Given the description of an element on the screen output the (x, y) to click on. 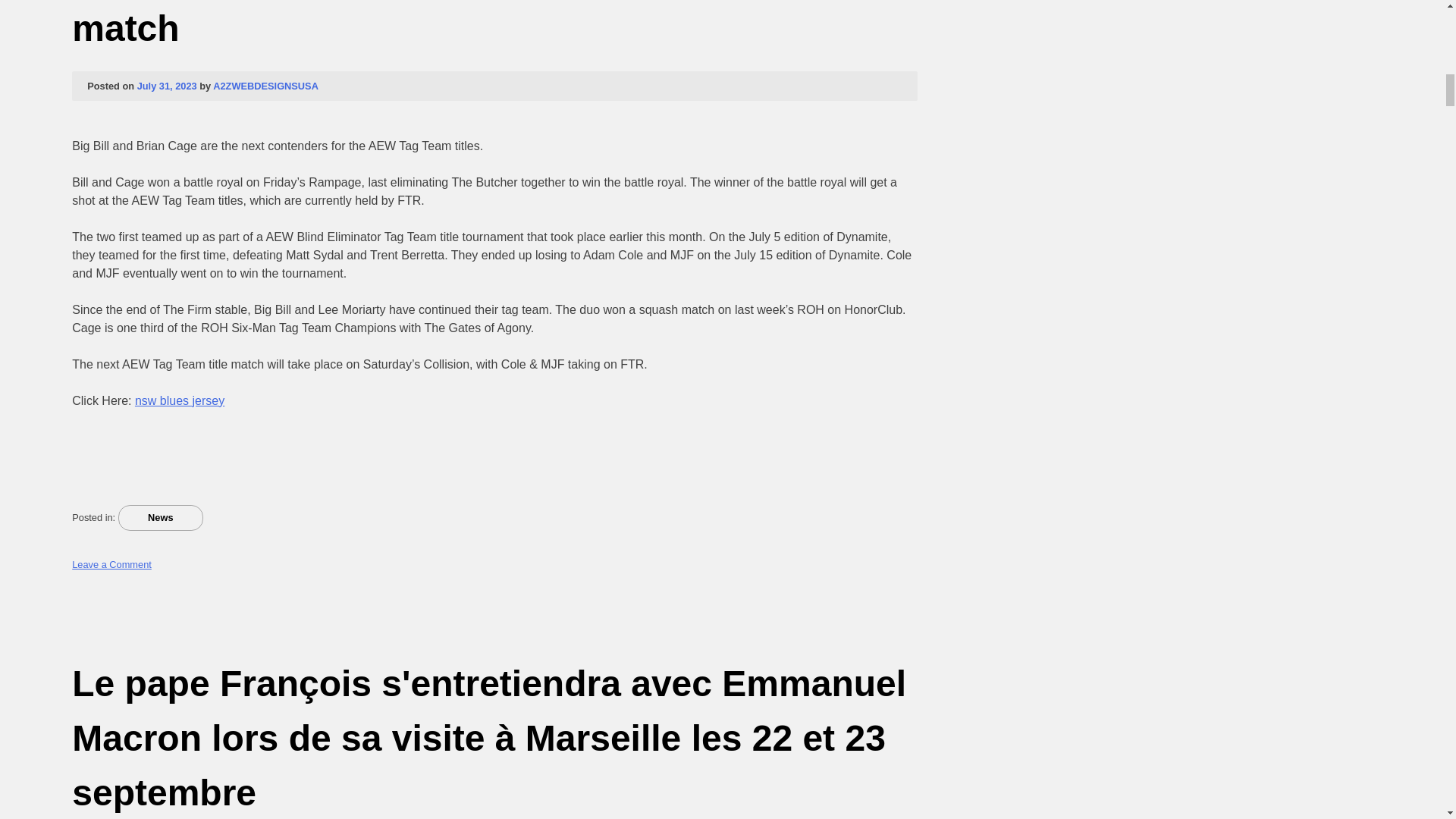
nsw blues jersey (179, 400)
July 31, 2023 (166, 85)
A2ZWEBDESIGNSUSA (265, 85)
nsw blues jersey (179, 400)
News (160, 517)
